Given the description of an element on the screen output the (x, y) to click on. 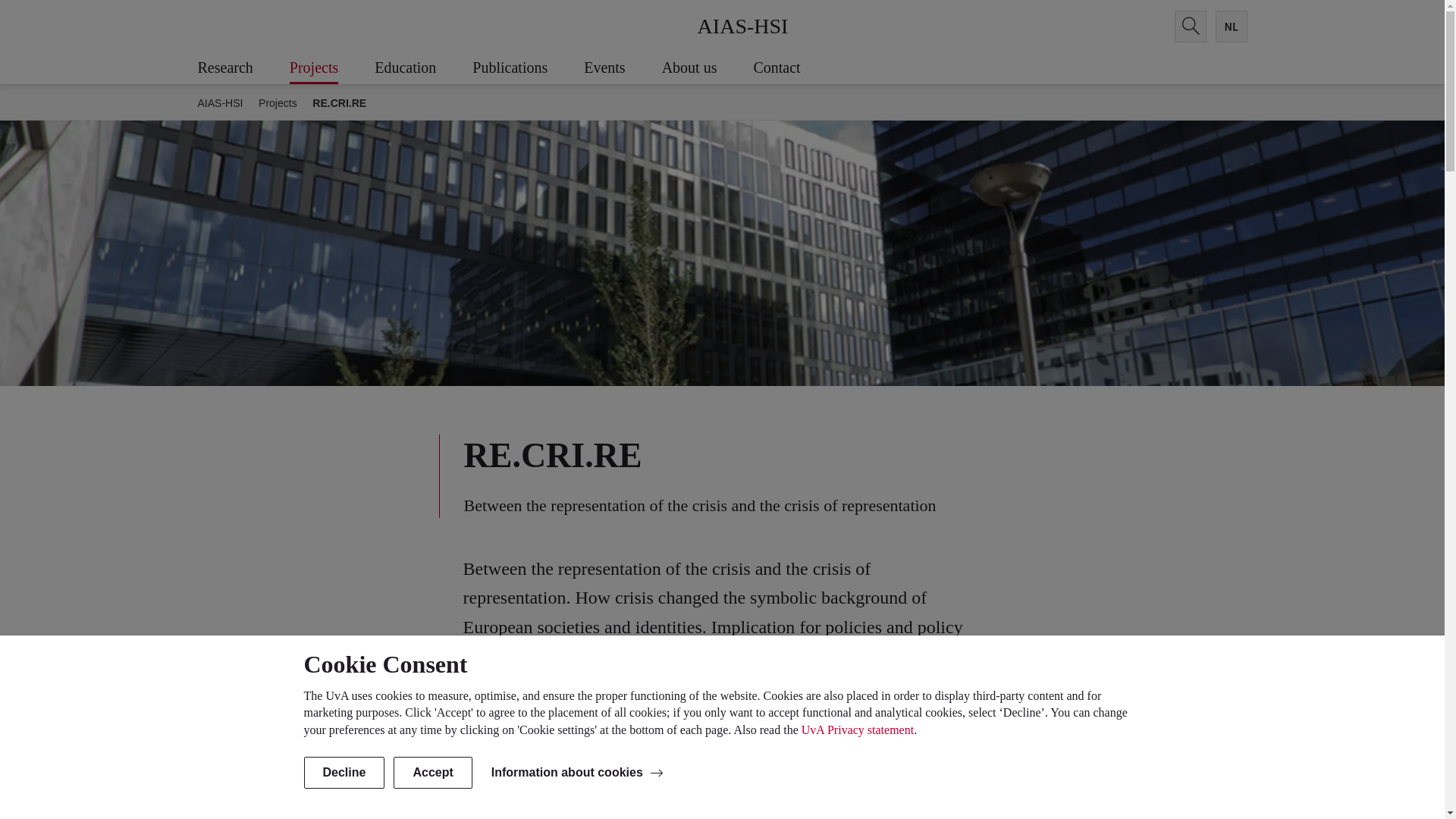
AIAS-HSI (743, 26)
Projects (331, 68)
Research (242, 68)
